Given the description of an element on the screen output the (x, y) to click on. 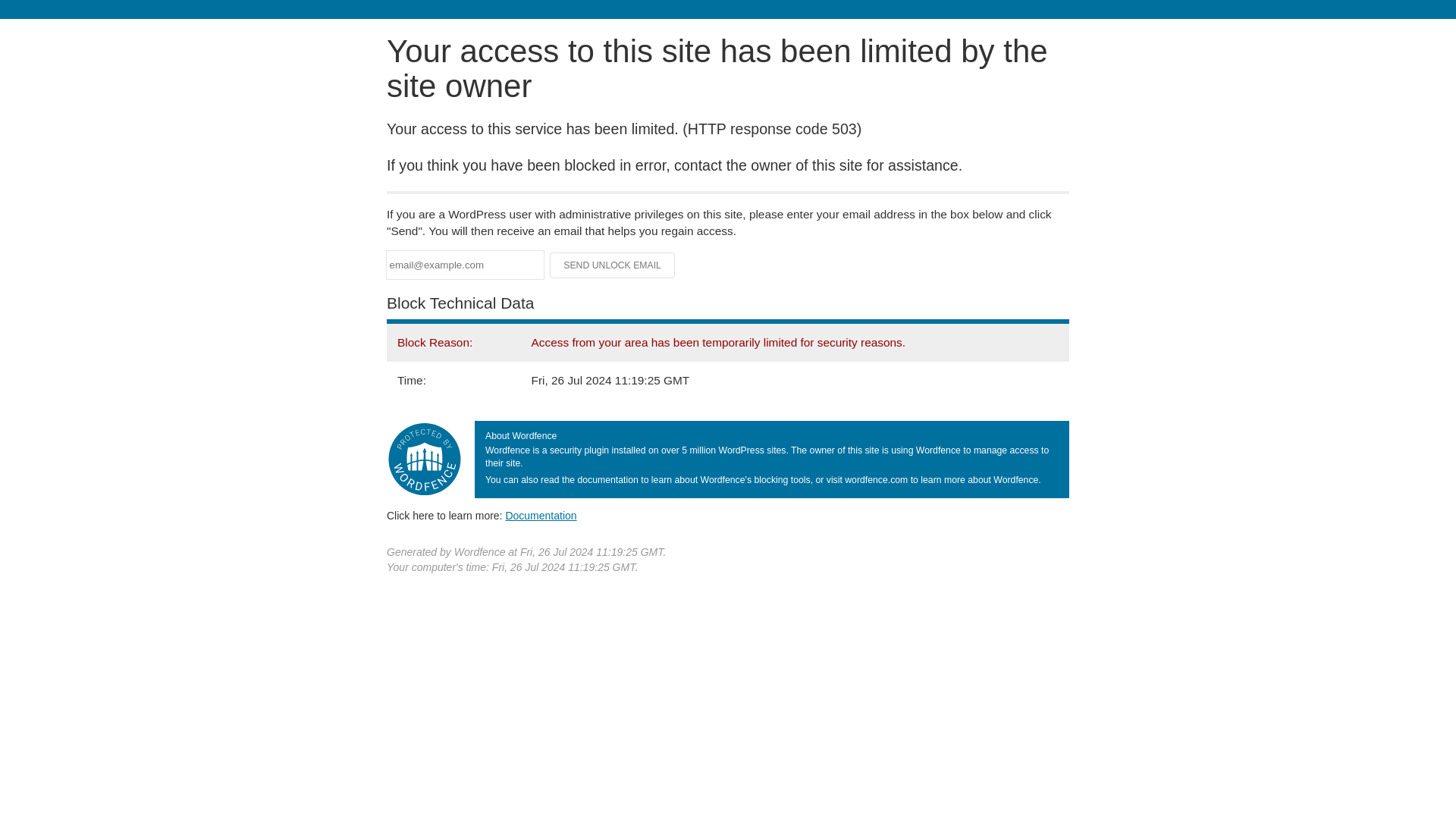
Send Unlock Email (612, 265)
Send Unlock Email (612, 265)
Documentation (540, 515)
